Given the description of an element on the screen output the (x, y) to click on. 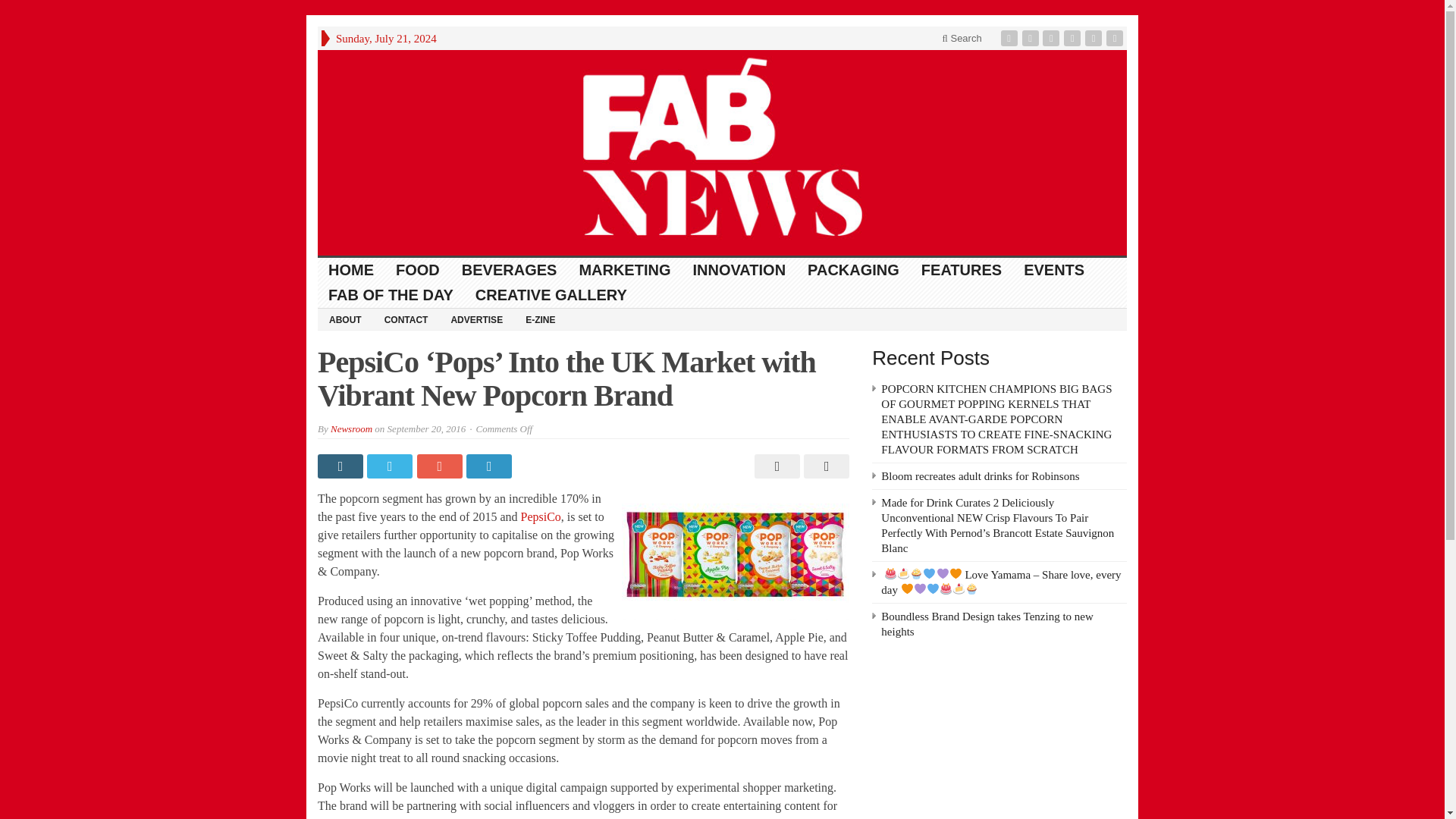
Youtube (1073, 37)
EVENTS (1054, 269)
Send by Email (823, 466)
ABOUT (344, 319)
CREATIVE GALLERY (551, 294)
Site feed (1115, 37)
ADVERTISE (476, 319)
Print This Post (775, 466)
HOME (351, 269)
Share on Facebook (341, 466)
Newsroom (351, 428)
INNOVATION (738, 269)
Facebook (1011, 37)
Share on Twitter (391, 466)
